Given the description of an element on the screen output the (x, y) to click on. 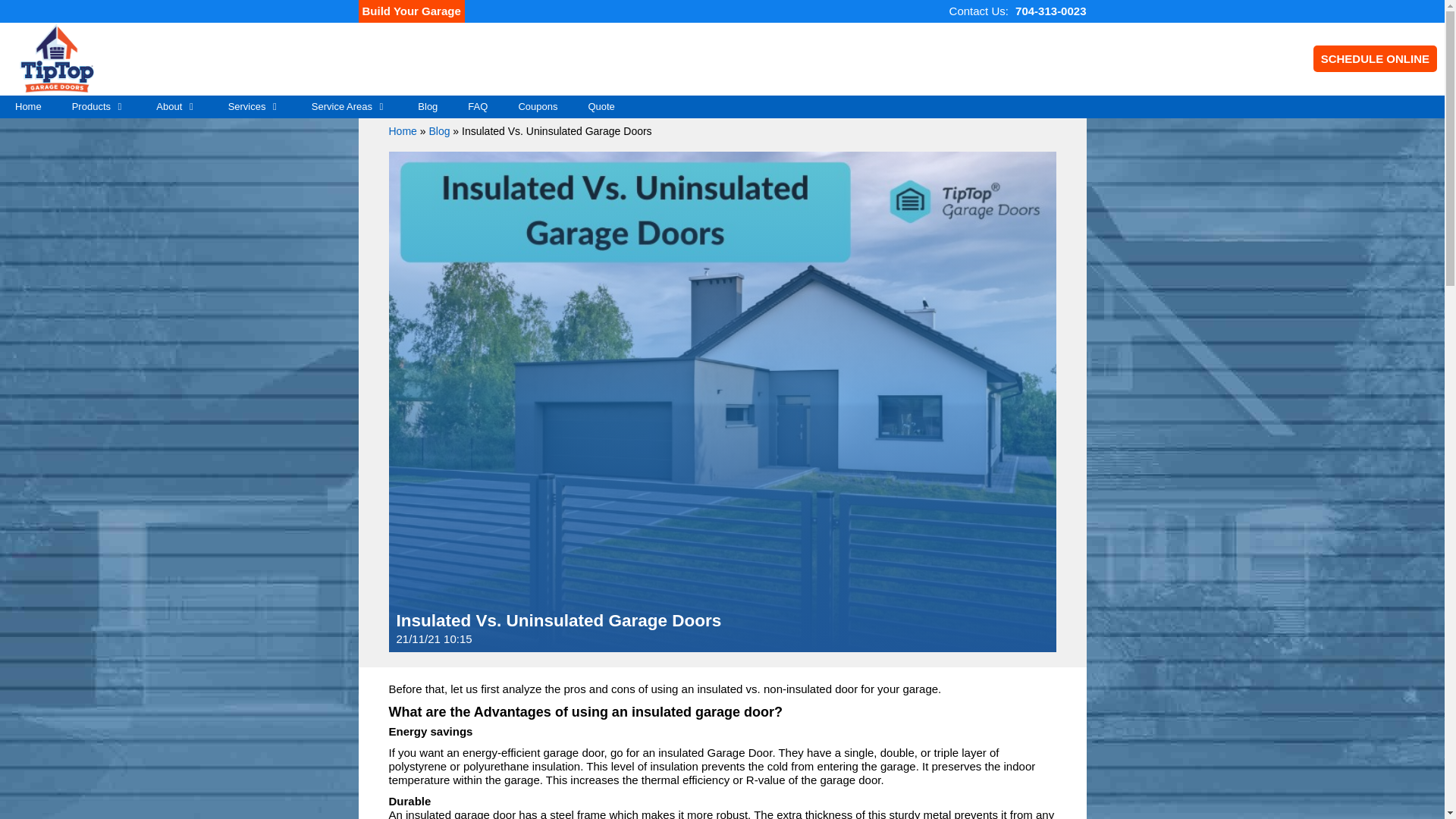
Blog (438, 131)
FAQ (477, 106)
SCHEDULE ONLINE (1375, 58)
Home (28, 106)
Build Your Garage (411, 11)
704-313-0023 (1050, 10)
Home (402, 131)
Coupons (537, 106)
Quote (600, 106)
Blog (427, 106)
